Given the description of an element on the screen output the (x, y) to click on. 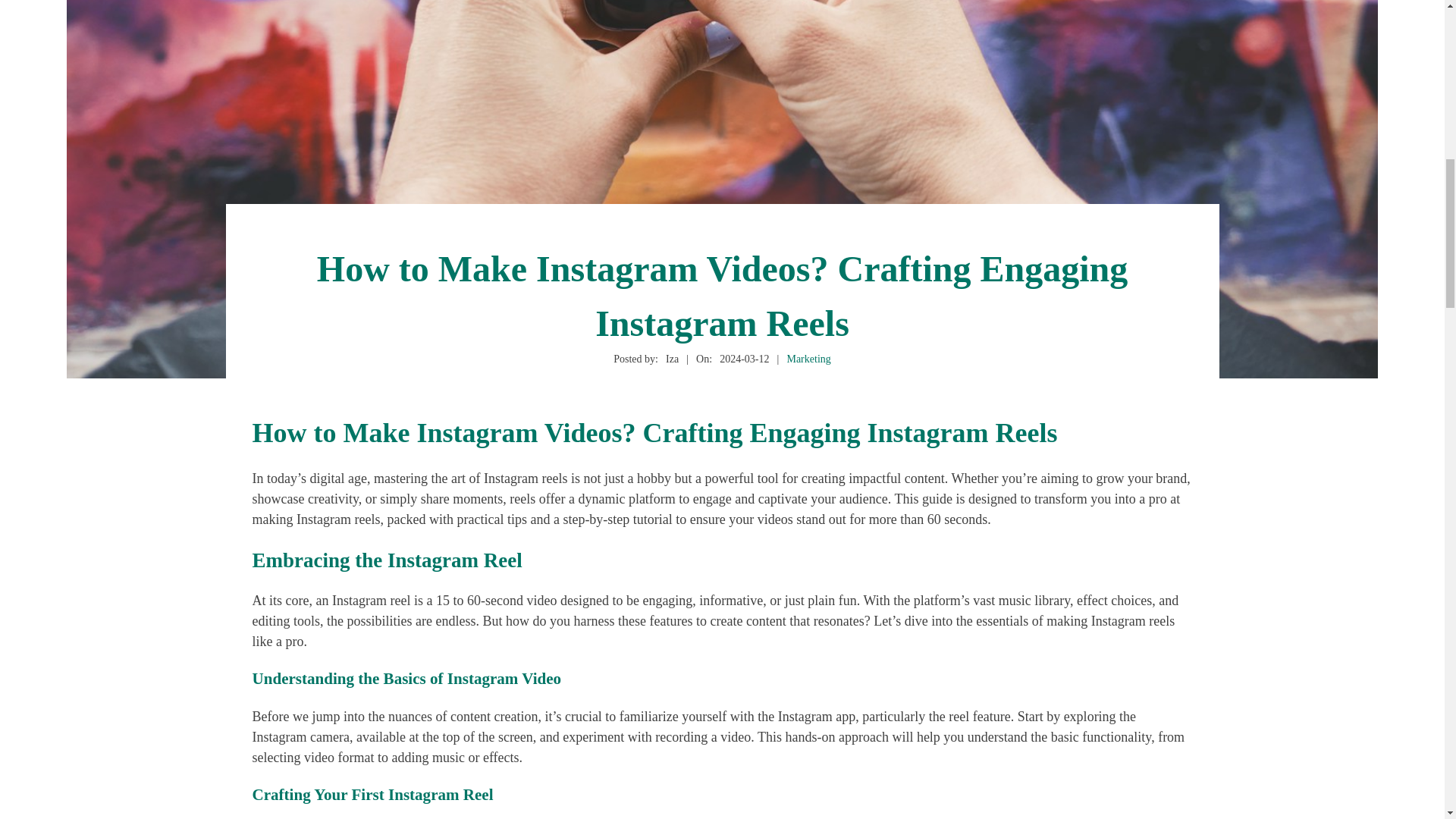
Marketing (807, 358)
